Given the description of an element on the screen output the (x, y) to click on. 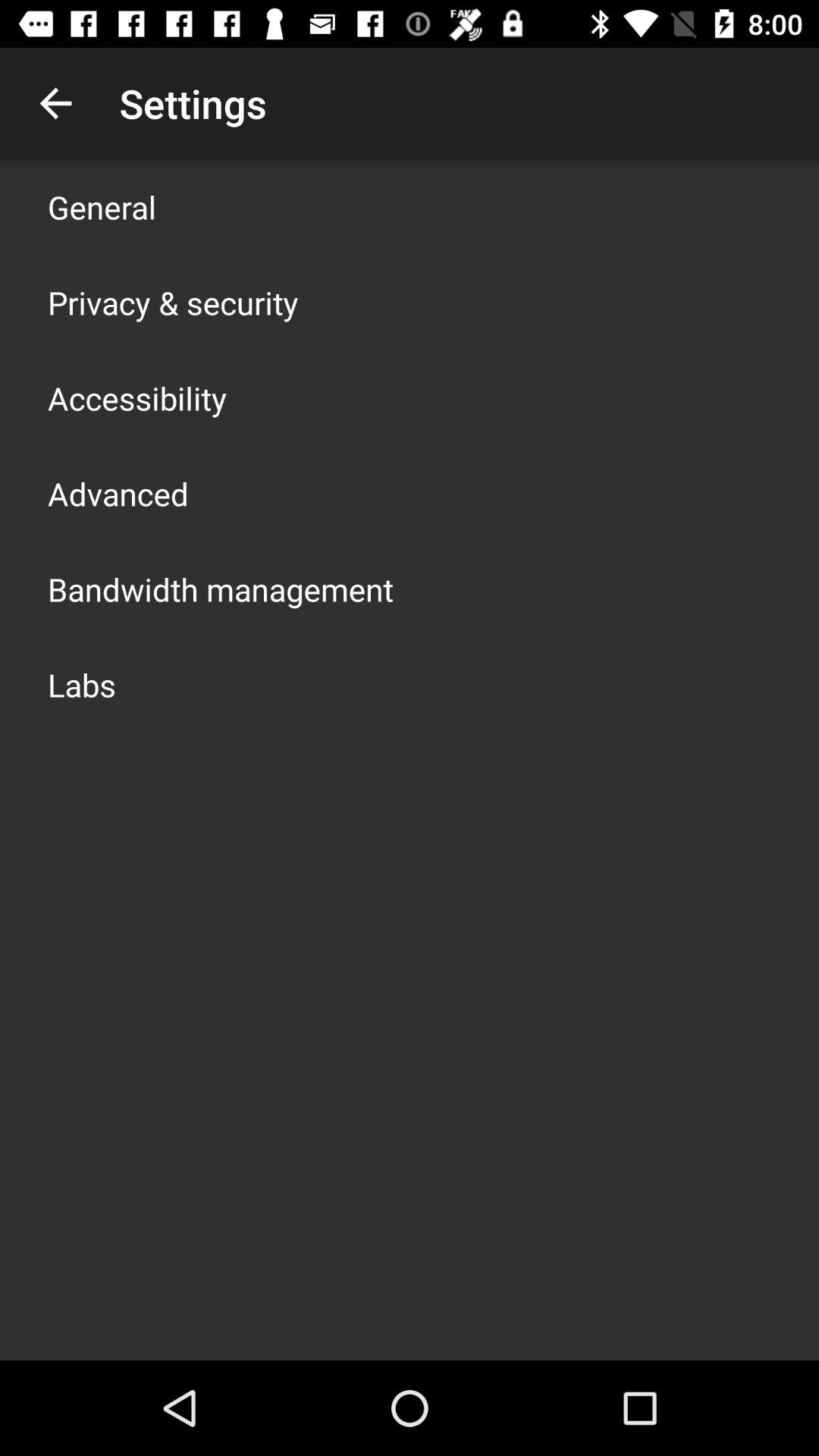
tap the icon below the bandwidth management app (81, 684)
